Given the description of an element on the screen output the (x, y) to click on. 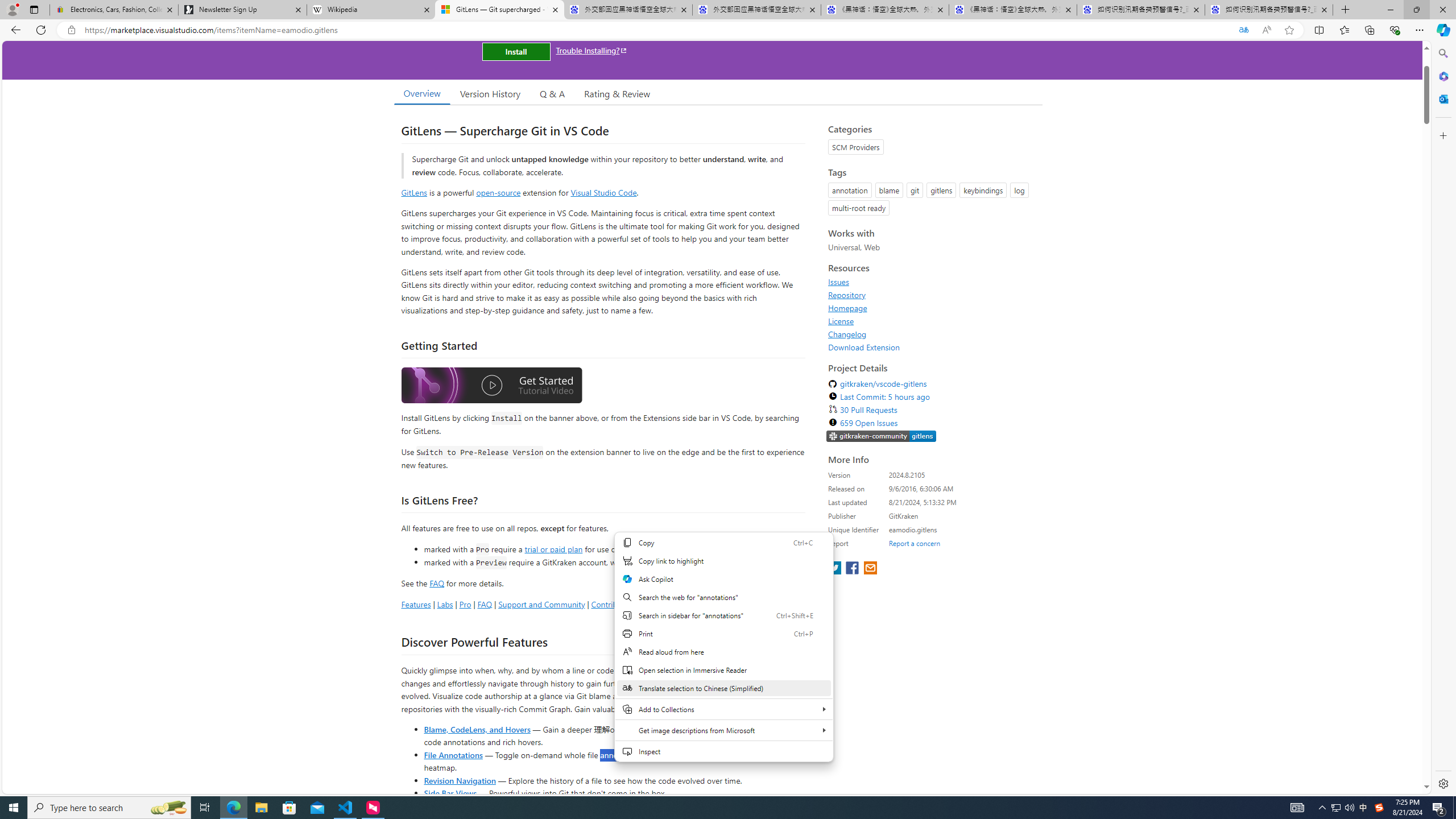
Q & A (552, 92)
FAQ (484, 603)
Version History (489, 92)
Read aloud from here (723, 651)
share extension on twitter (835, 568)
open-source (498, 192)
Watch the GitLens Getting Started video (491, 387)
